Given the description of an element on the screen output the (x, y) to click on. 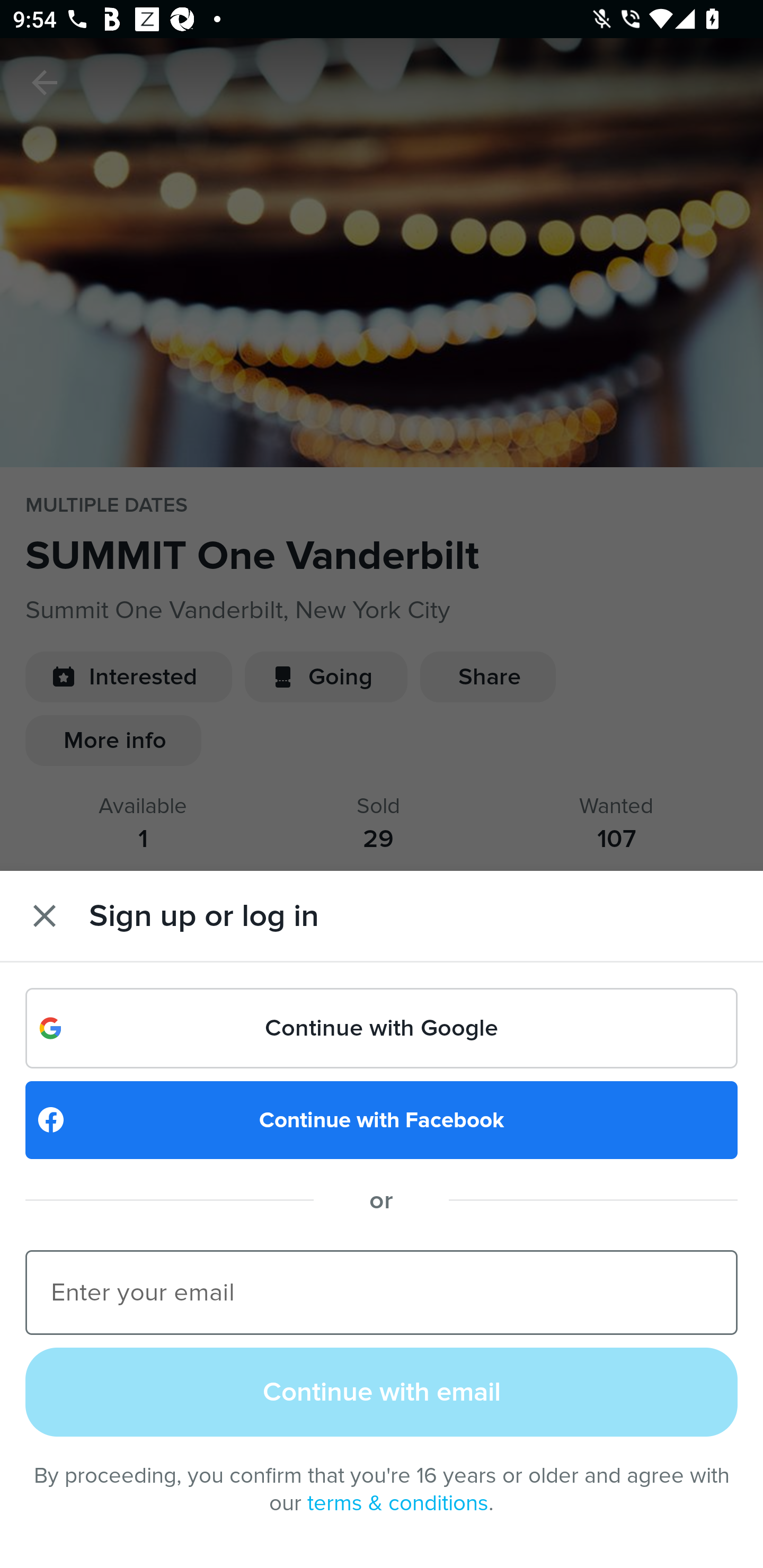
Continue with Google (381, 1027)
Continue with Facebook (381, 1119)
Enter your email (381, 1291)
Continue with email (381, 1391)
